Given the description of an element on the screen output the (x, y) to click on. 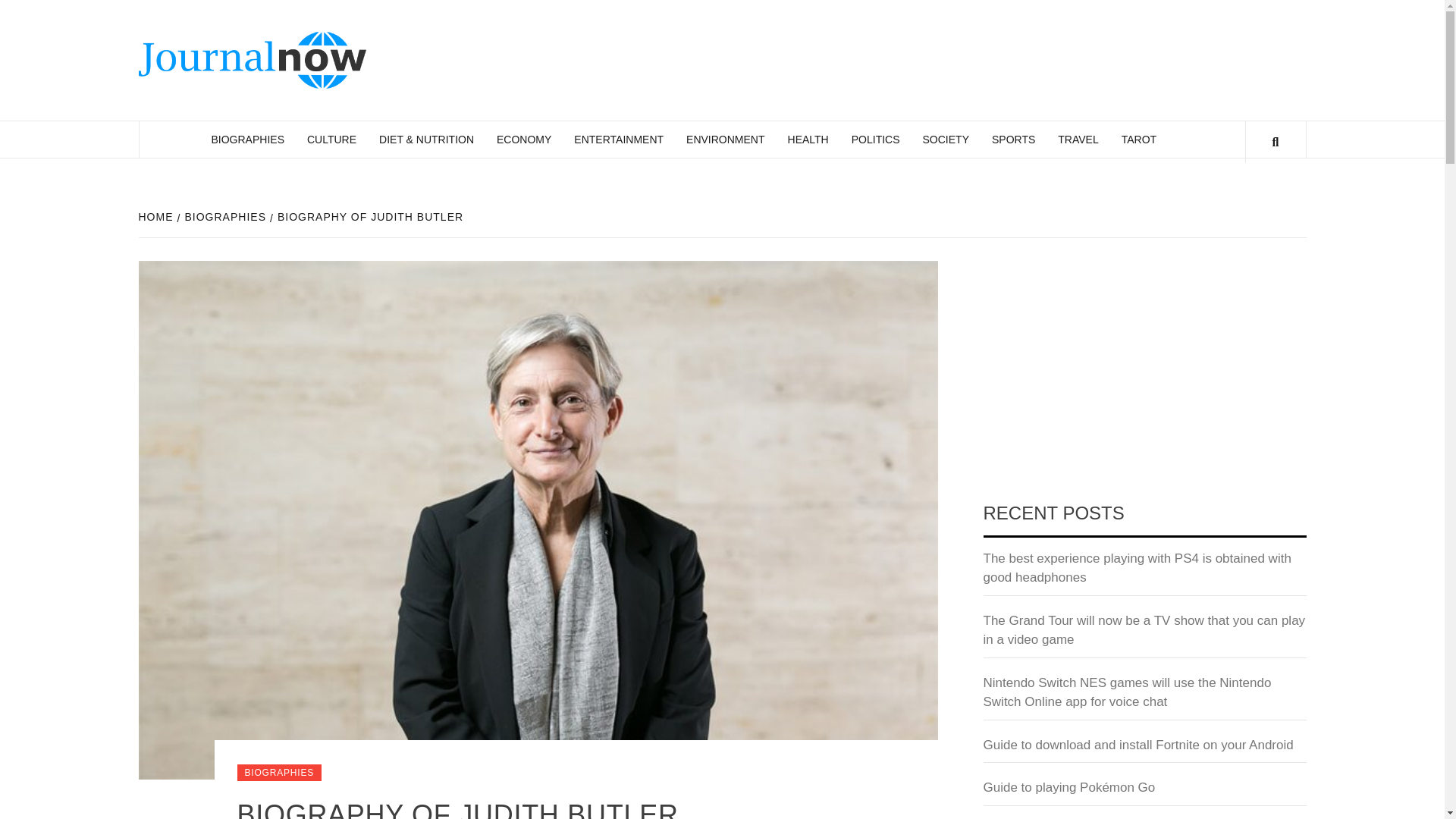
POLITICS (875, 139)
Guide to download and install Fortnite on your Android (1144, 749)
BIOGRAPHIES (278, 772)
ENVIRONMENT (725, 139)
HEALTH (808, 139)
TAROT (1138, 139)
Advertisement (1144, 372)
SOCIETY (945, 139)
TRAVEL (1077, 139)
BIOGRAPHIES (247, 139)
BIOGRAPHIES (223, 216)
ECONOMY (523, 139)
CULTURE (331, 139)
ENTERTAINMENT (618, 139)
